Given the description of an element on the screen output the (x, y) to click on. 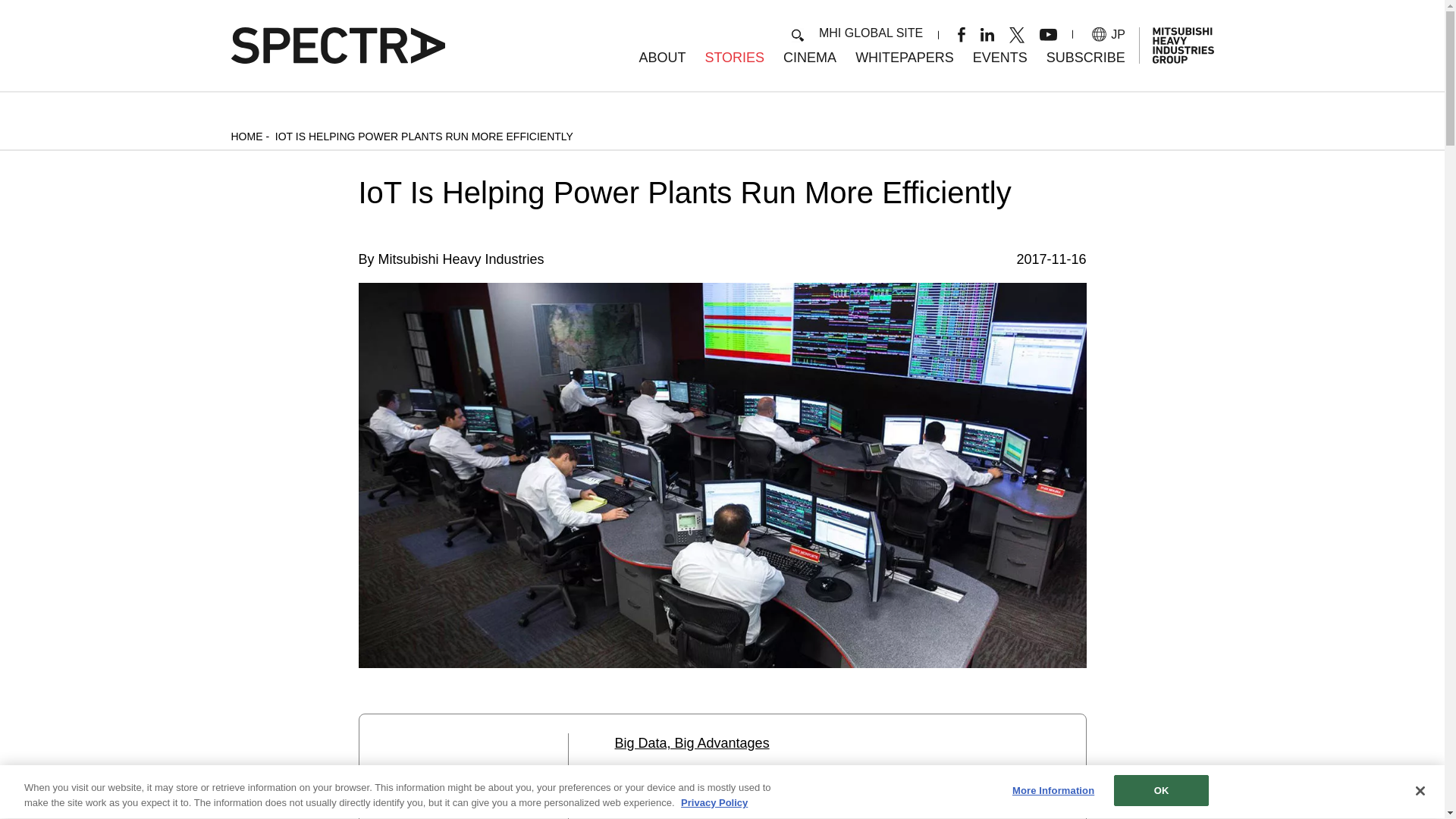
MHI GLOBAL SITE (870, 32)
STORIES (734, 57)
CINEMA (809, 57)
SUBSCRIBE (1085, 57)
MHI Group at COP28 (999, 57)
EVENTS (999, 57)
JP (1108, 34)
HOME (246, 136)
ABOUT (662, 57)
WHITEPAPERS (904, 57)
